Given the description of an element on the screen output the (x, y) to click on. 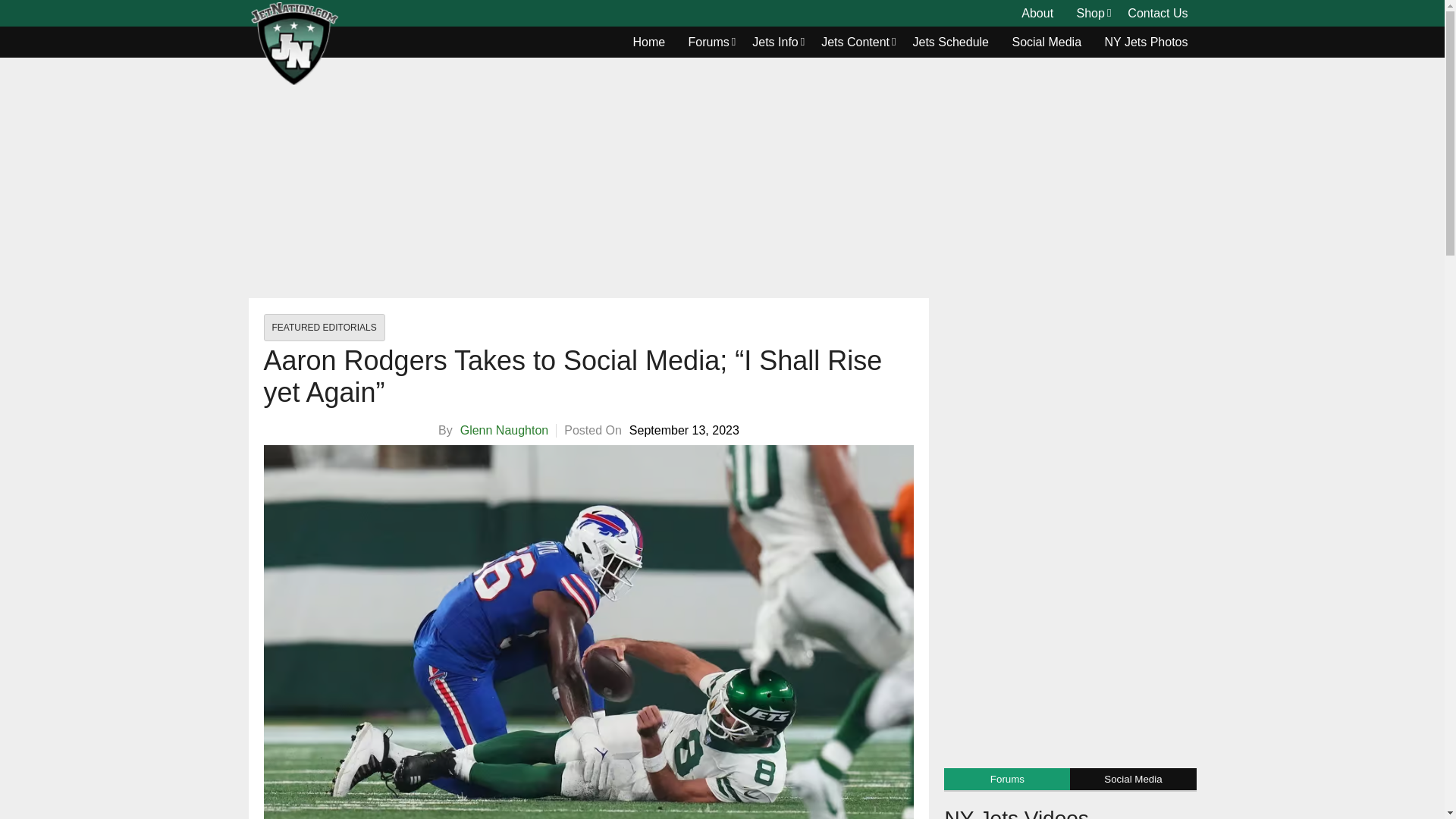
Glenn Naughton (504, 430)
About (1037, 13)
Social Media (1046, 41)
Home (649, 41)
Contact Us (1157, 13)
NY Jets Photos (1146, 41)
Forums (709, 41)
Jets Content (855, 41)
2023-09-13 (683, 430)
Shop (1090, 13)
NY Jets Social Media (1046, 41)
FEATURED EDITORIALS (324, 327)
Jets Info (775, 41)
Jets Schedule (950, 41)
